Given the description of an element on the screen output the (x, y) to click on. 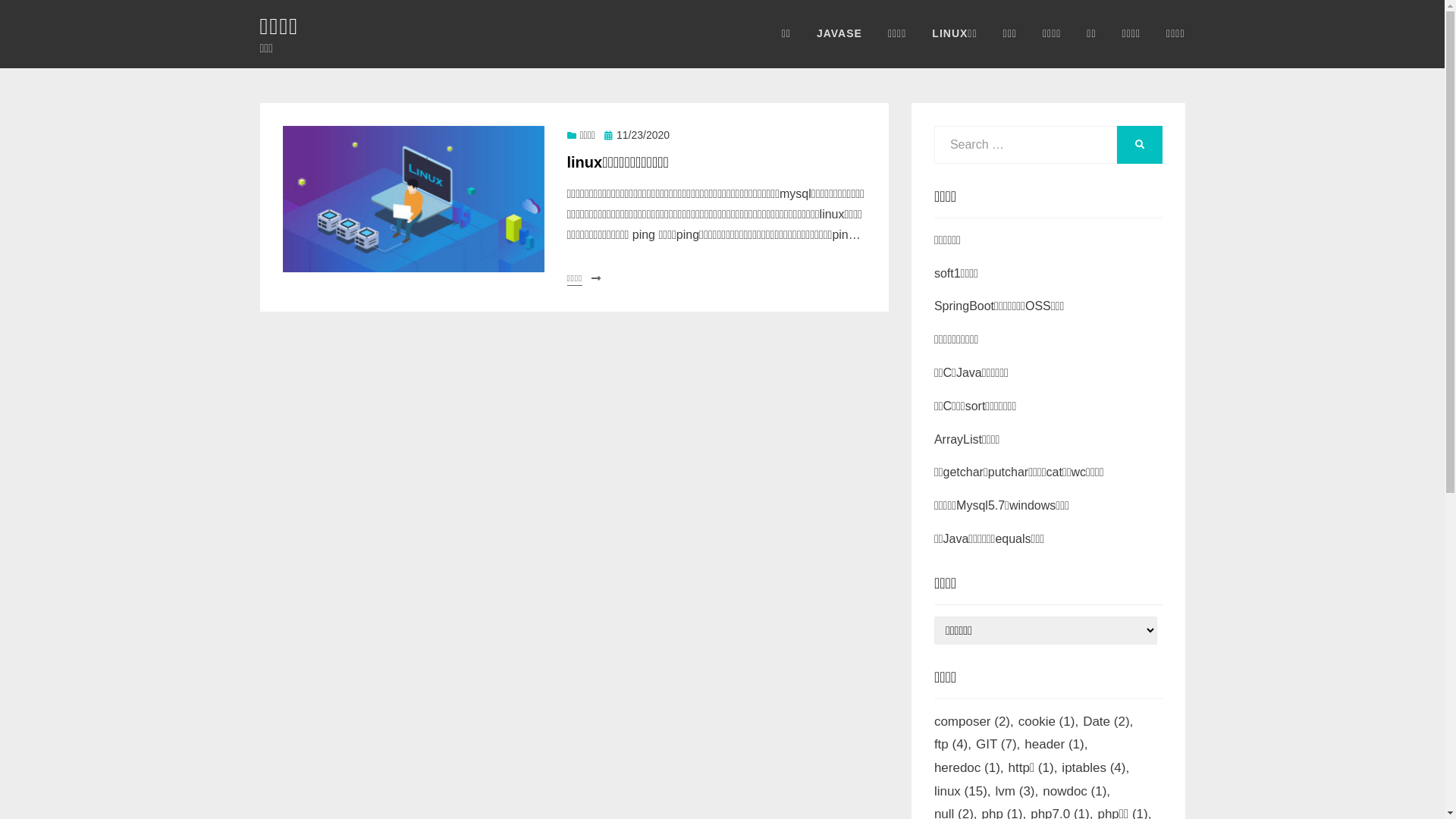
nowdoc (1) Element type: text (1078, 791)
composer (2) Element type: text (976, 722)
SEARCH Element type: text (1138, 144)
lvm (3) Element type: text (1019, 791)
linux (15) Element type: text (964, 791)
ftp (4) Element type: text (954, 744)
GIT (7) Element type: text (999, 744)
cookie (1) Element type: text (1050, 722)
JAVASE Element type: text (839, 33)
iptables (4) Element type: text (1097, 768)
header (1) Element type: text (1058, 744)
Date (2) Element type: text (1109, 722)
heredoc (1) Element type: text (971, 768)
Search for: Element type: hover (1025, 144)
11/23/2020 Element type: text (636, 134)
